Given the description of an element on the screen output the (x, y) to click on. 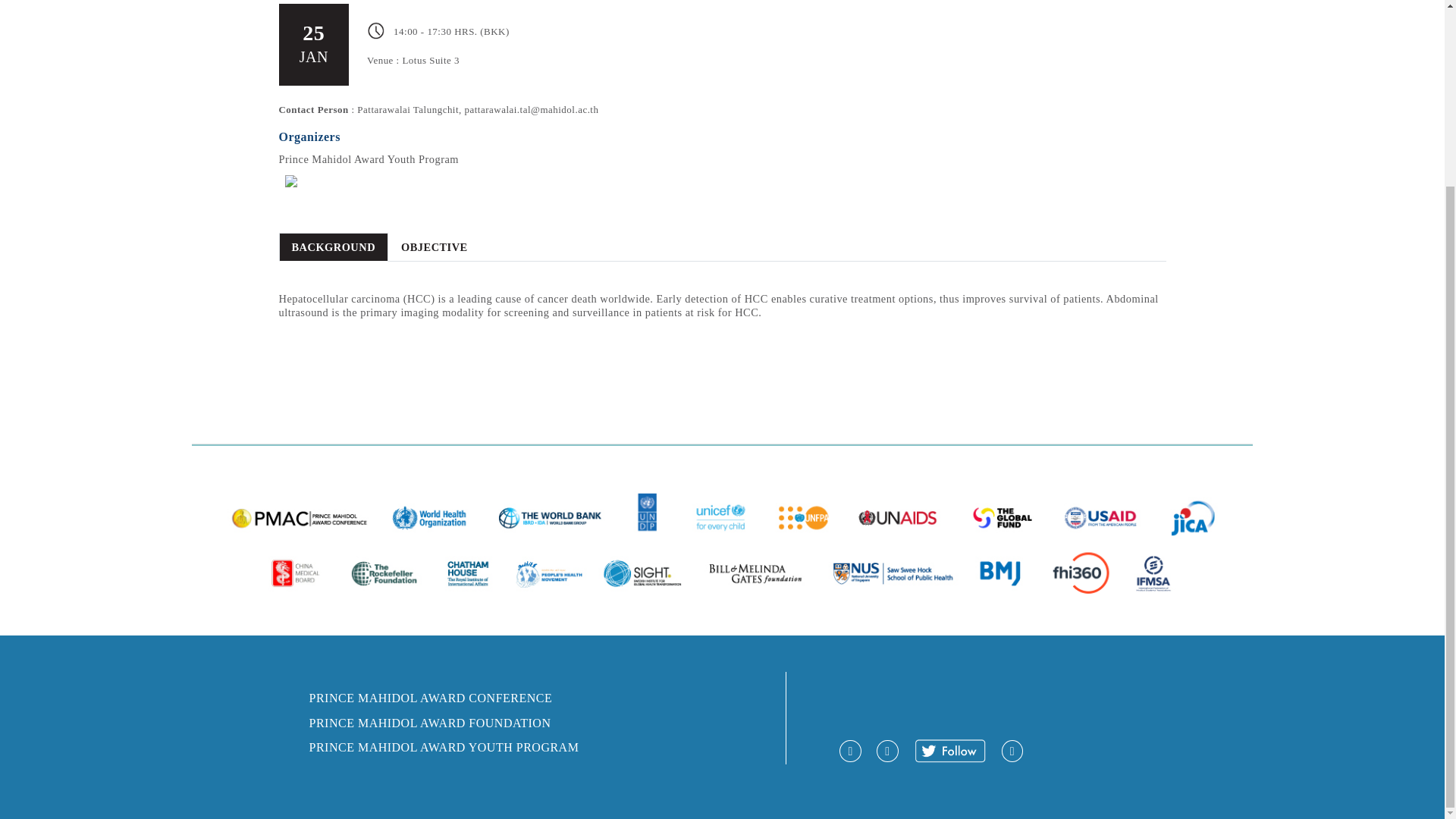
PRINCE MAHIDOL AWARD FOUNDATION (429, 722)
OBJECTIVE (434, 246)
BACKGROUND (333, 246)
PRINCE MAHIDOL AWARD CONFERENCE (430, 697)
PRINCE MAHIDOL AWARD YOUTH PROGRAM (443, 747)
